Given the description of an element on the screen output the (x, y) to click on. 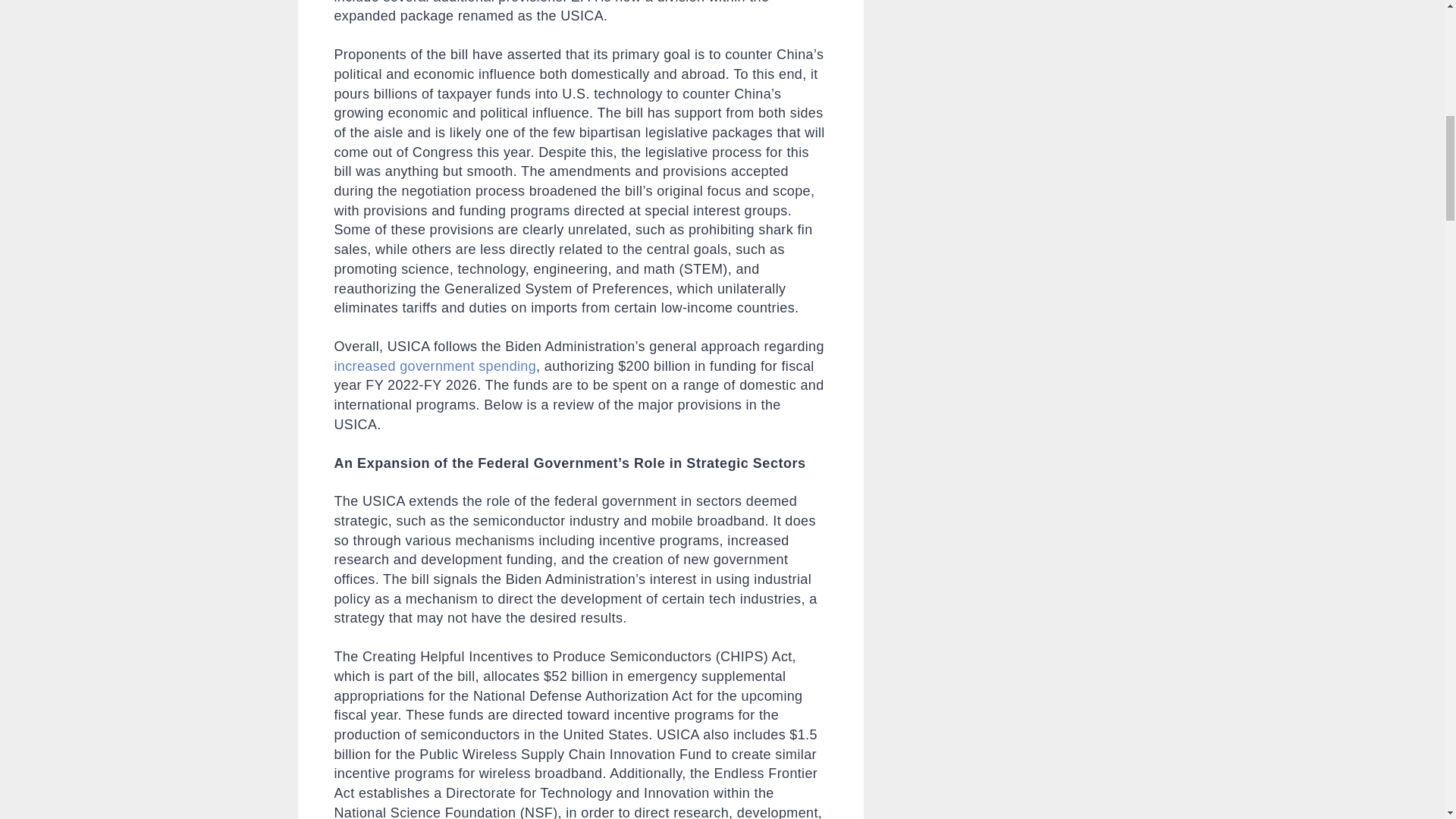
increased government spending (434, 365)
